Given the description of an element on the screen output the (x, y) to click on. 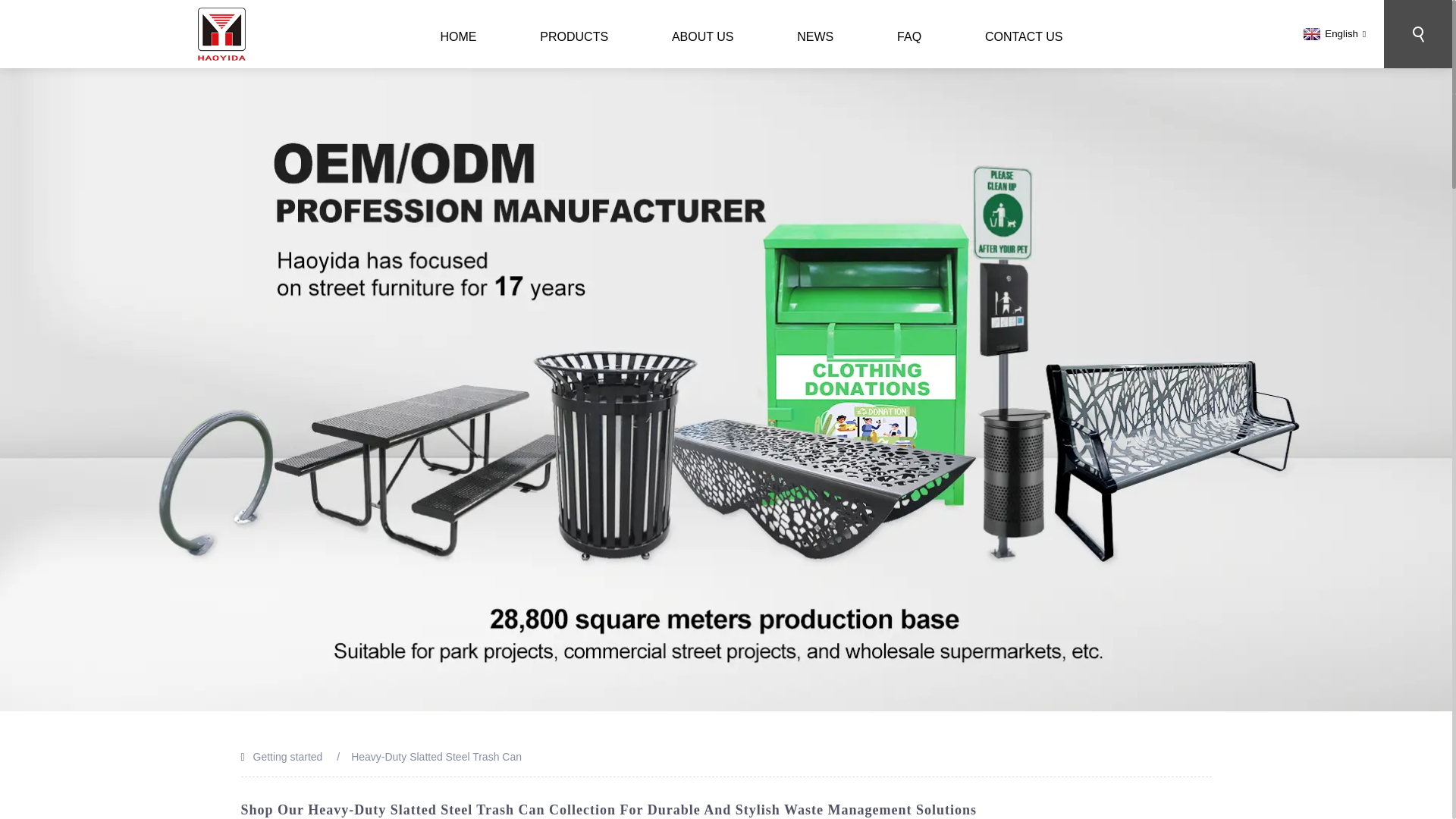
PRODUCTS (574, 36)
CONTACT US (1024, 36)
Getting started (288, 756)
Heavy-Duty Slatted Steel Trash Can (435, 756)
ABOUT US (703, 36)
English (1332, 33)
